Given the description of an element on the screen output the (x, y) to click on. 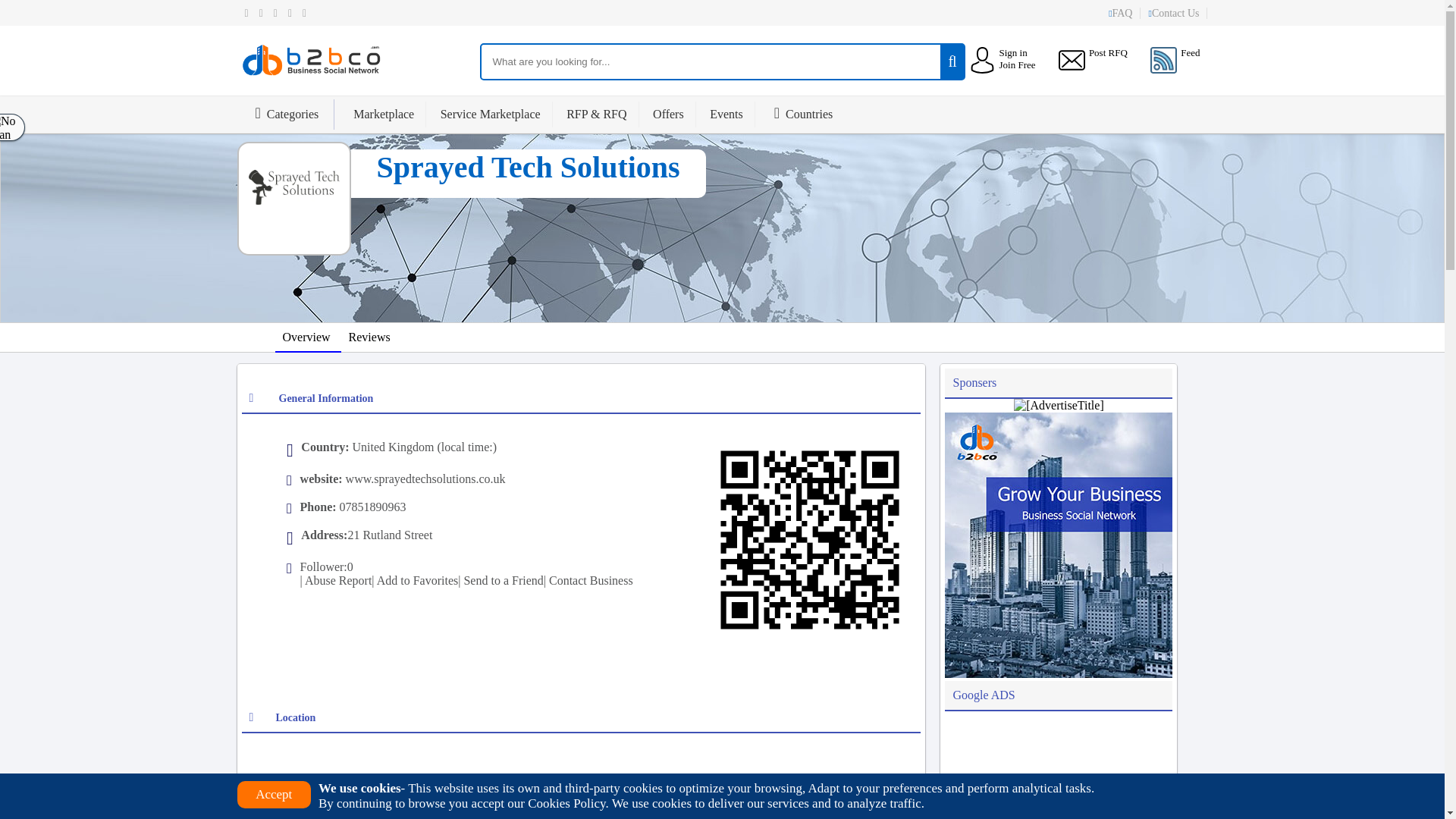
Join Free (1016, 64)
Questions you often ask (1124, 12)
Contact Us (1177, 12)
Feed (1177, 59)
B2BCO Business Social Network (313, 76)
Join Free (1016, 64)
Contact Us (1177, 12)
Post RFQ (1107, 52)
Categories (292, 113)
Feed (1177, 59)
